Given the description of an element on the screen output the (x, y) to click on. 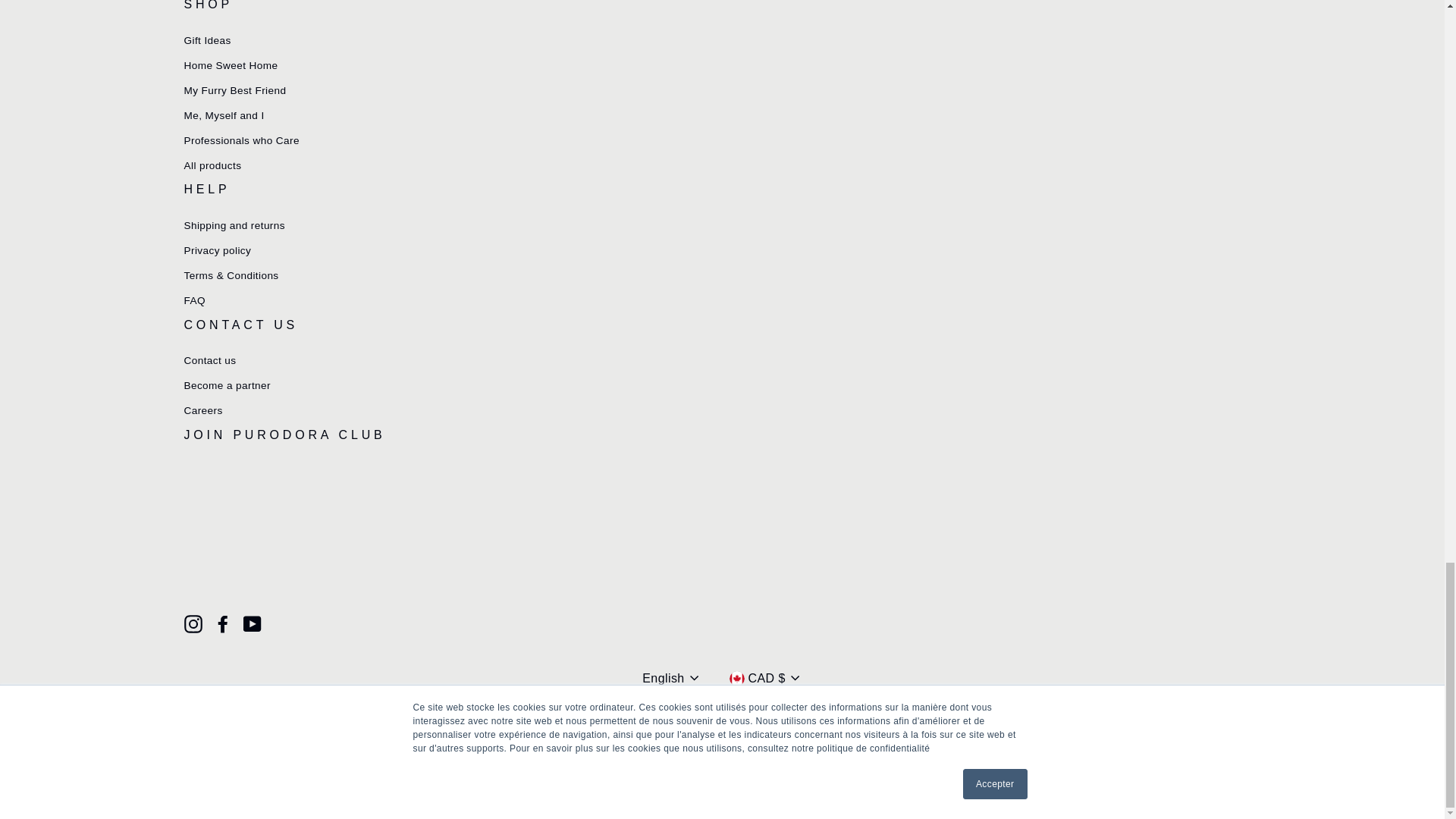
Form 0 (698, 531)
Purodora Lab on Facebook (222, 624)
Purodora Lab on YouTube (251, 624)
Purodora Lab on Instagram (192, 624)
